Given the description of an element on the screen output the (x, y) to click on. 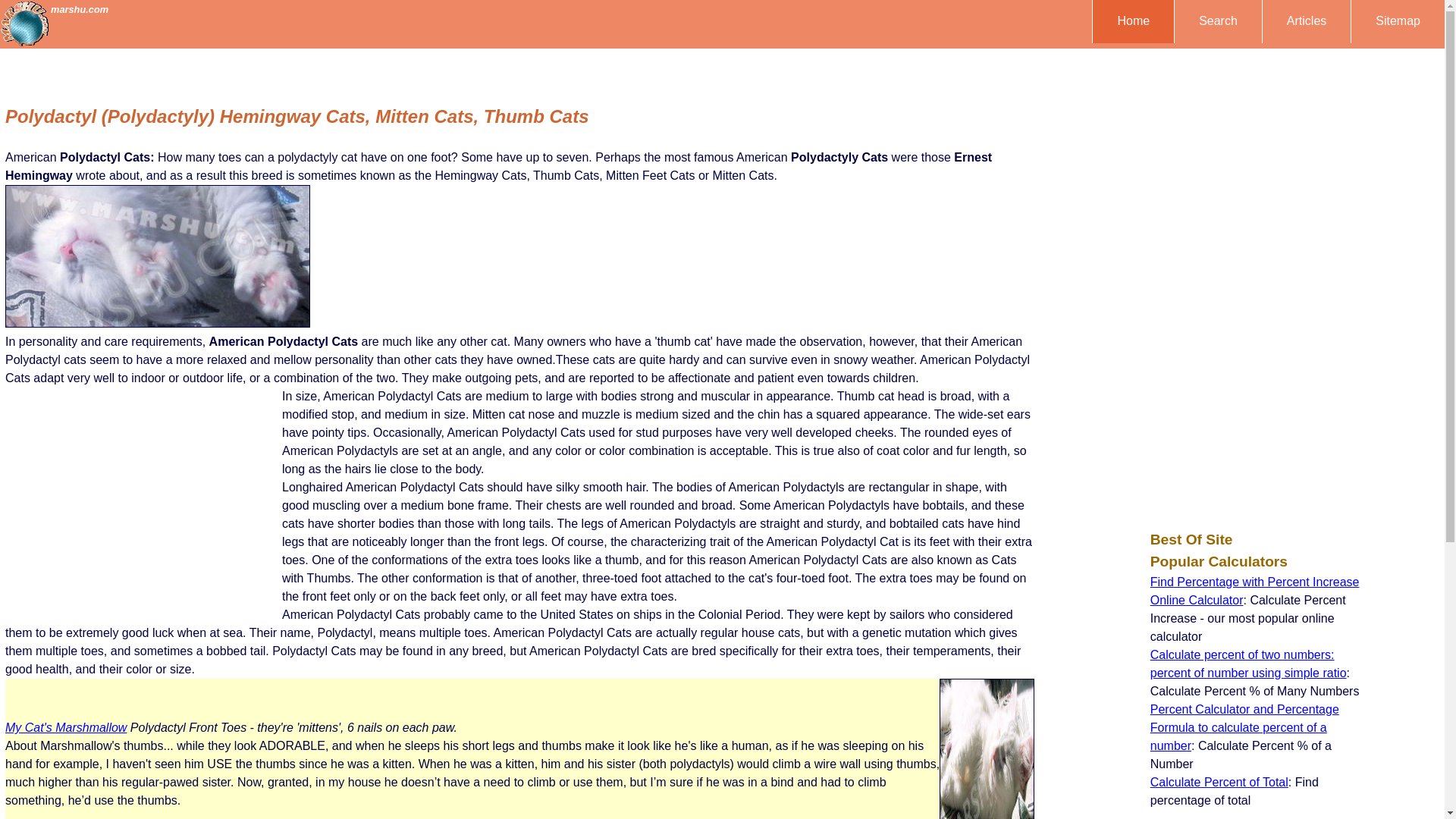
Articles (1306, 21)
Find Percentage with Percent Increase Online Calculator (1254, 590)
Search (1217, 21)
Home (1132, 21)
My Cat's Marshmallow (65, 727)
Calculate Percent of Total (1219, 781)
Advertisement (143, 503)
